Given the description of an element on the screen output the (x, y) to click on. 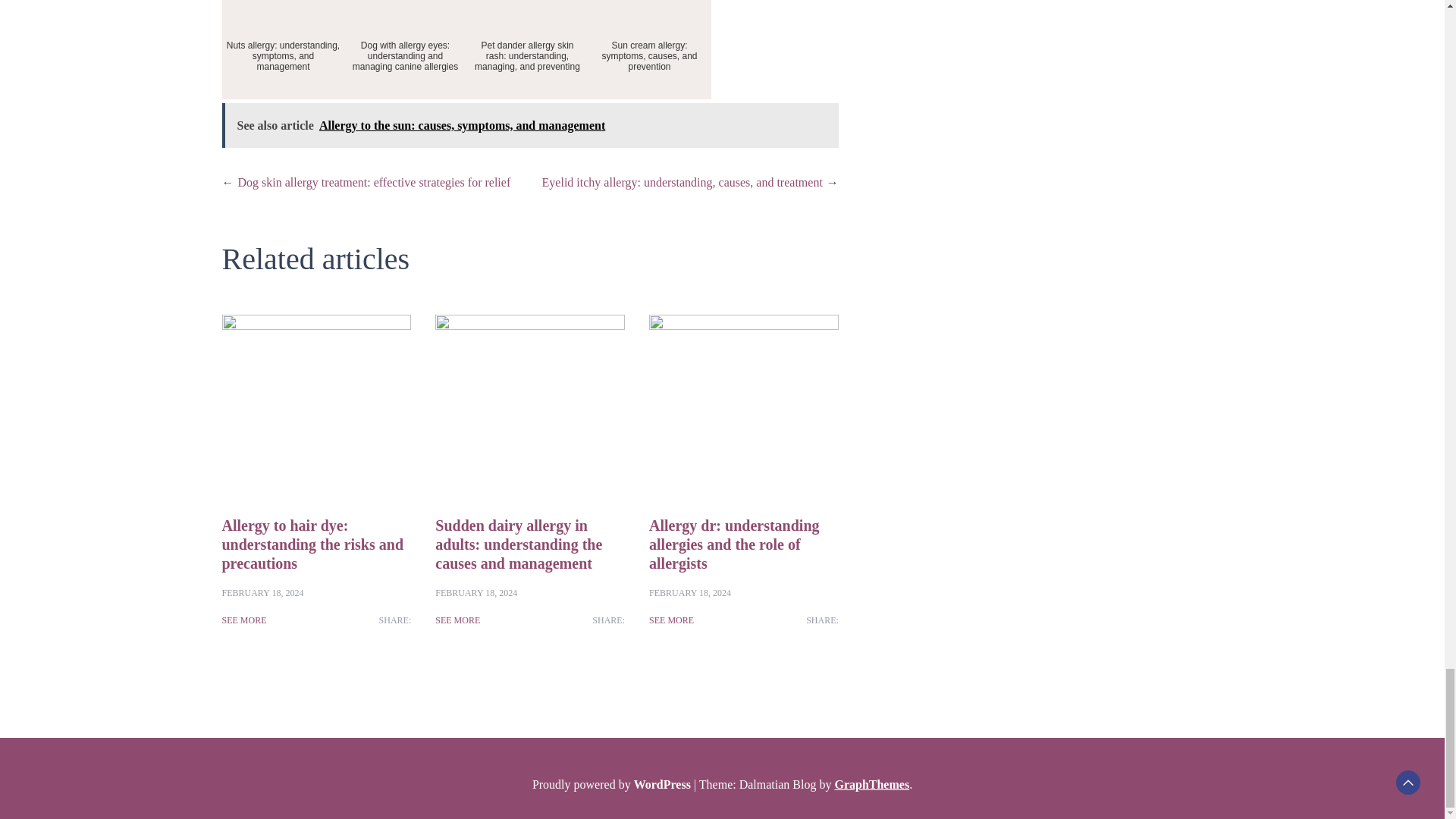
Allergy to hair dye: understanding the risks and precautions (312, 543)
Dog skin allergy treatment: effective strategies for relief (374, 182)
Sun cream allergy: symptoms, causes, and prevention (649, 49)
Eyelid itchy allergy: understanding, causes, and treatment (681, 182)
Nuts allergy: understanding, symptoms, and management (282, 49)
